Given the description of an element on the screen output the (x, y) to click on. 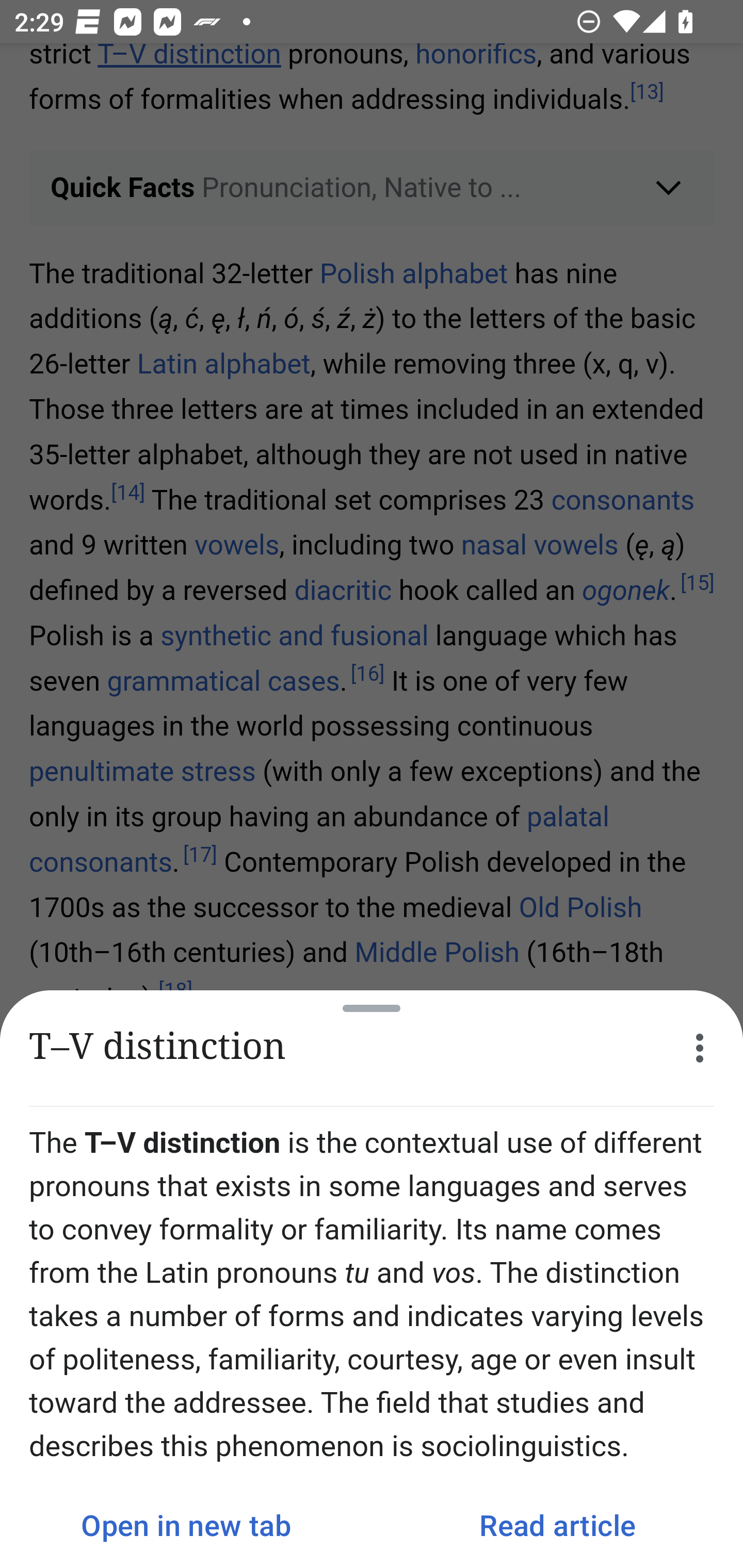
T–V distinction More options (371, 1047)
More options (699, 1048)
Open in new tab (185, 1524)
Read article (557, 1524)
